Given the description of an element on the screen output the (x, y) to click on. 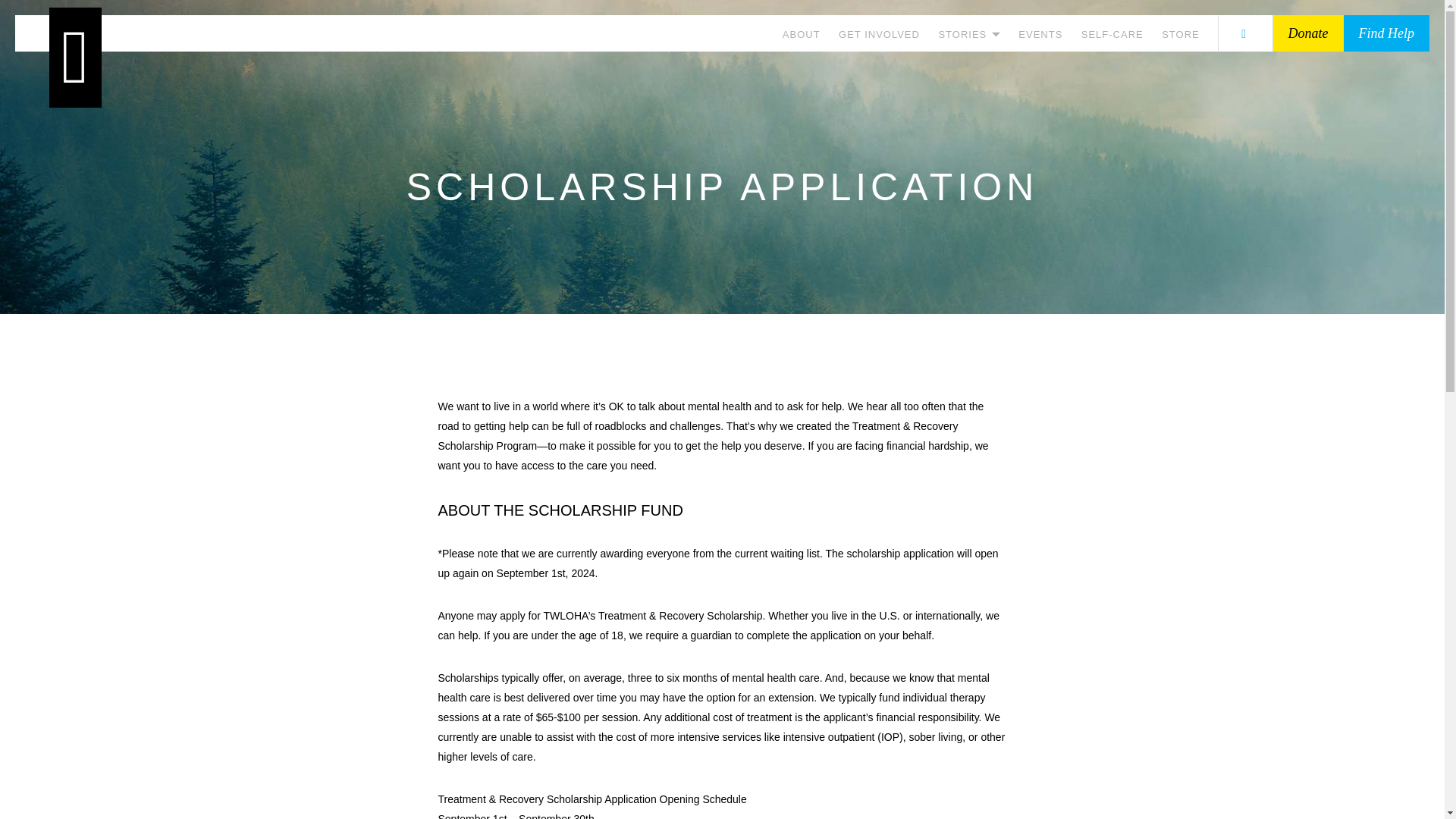
STORE (1180, 34)
ABOUT (802, 34)
EVENTS (1039, 34)
STORIES (967, 34)
Find Help (1386, 33)
GET INVOLVED (879, 34)
SELF-CARE (1111, 34)
Donate (1307, 33)
